Given the description of an element on the screen output the (x, y) to click on. 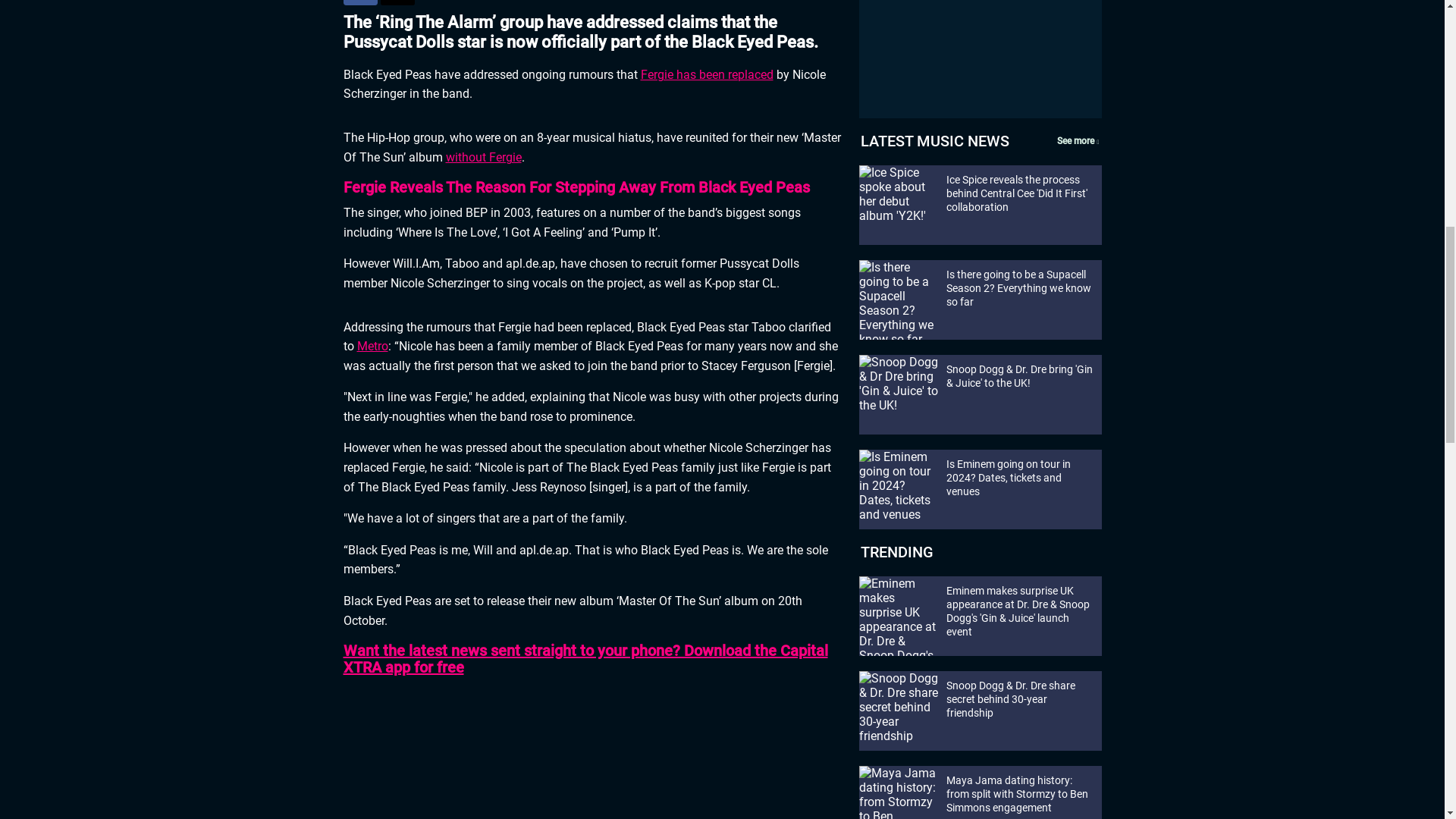
LATEST MUSIC NEWS (934, 140)
Metro (371, 345)
without Fergie (483, 156)
Fergie has been replaced (706, 74)
